Given the description of an element on the screen output the (x, y) to click on. 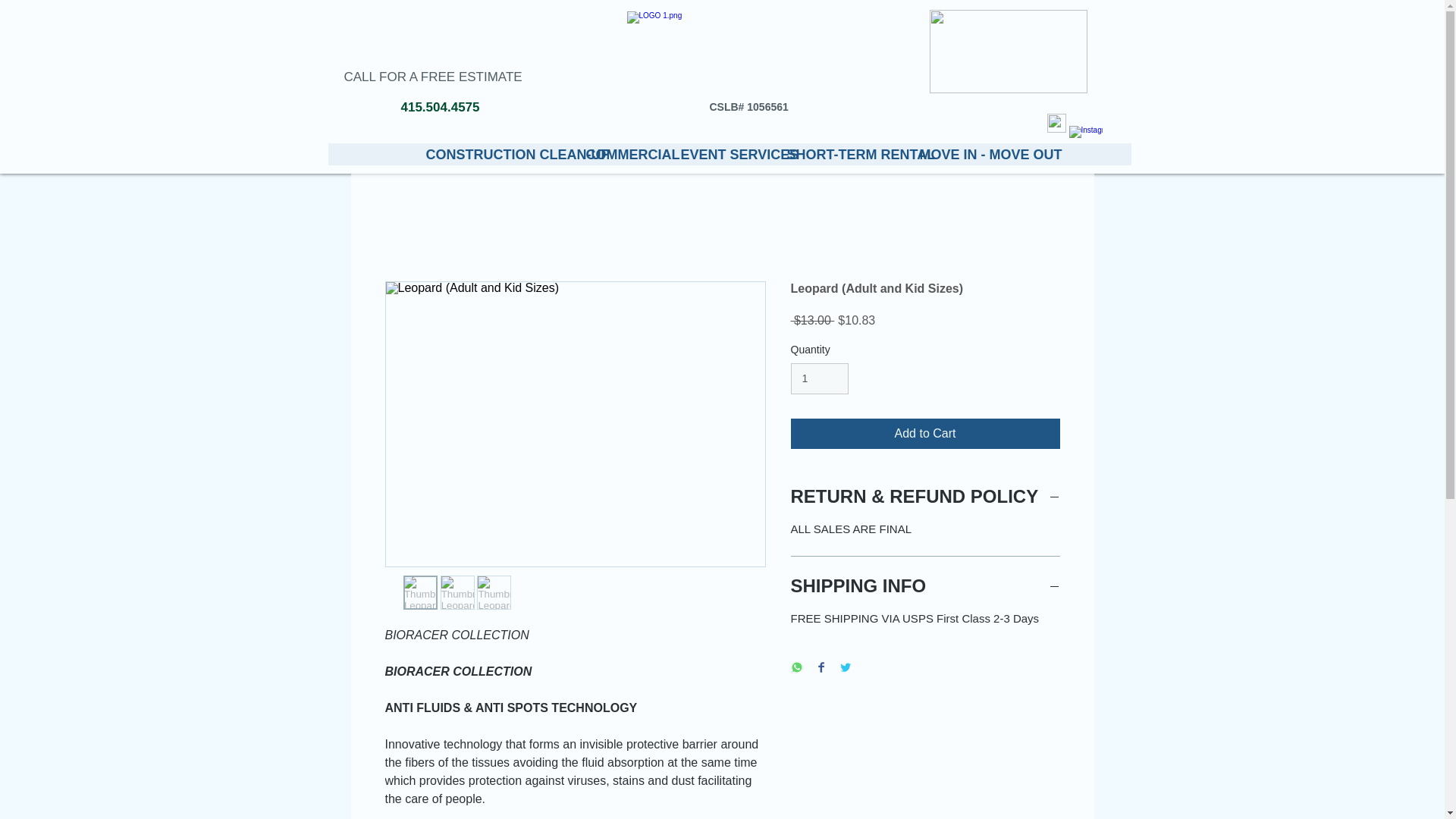
1 (818, 378)
SHORT-TERM RENTAL (840, 154)
CONSTRUCTION CLEAN-UP (493, 154)
COMMERCIAL (620, 154)
Add to Cart (924, 433)
SHIPPING INFO (924, 585)
MOVE IN - MOVE OUT (976, 154)
EVENT SERVICES (721, 154)
